Given the description of an element on the screen output the (x, y) to click on. 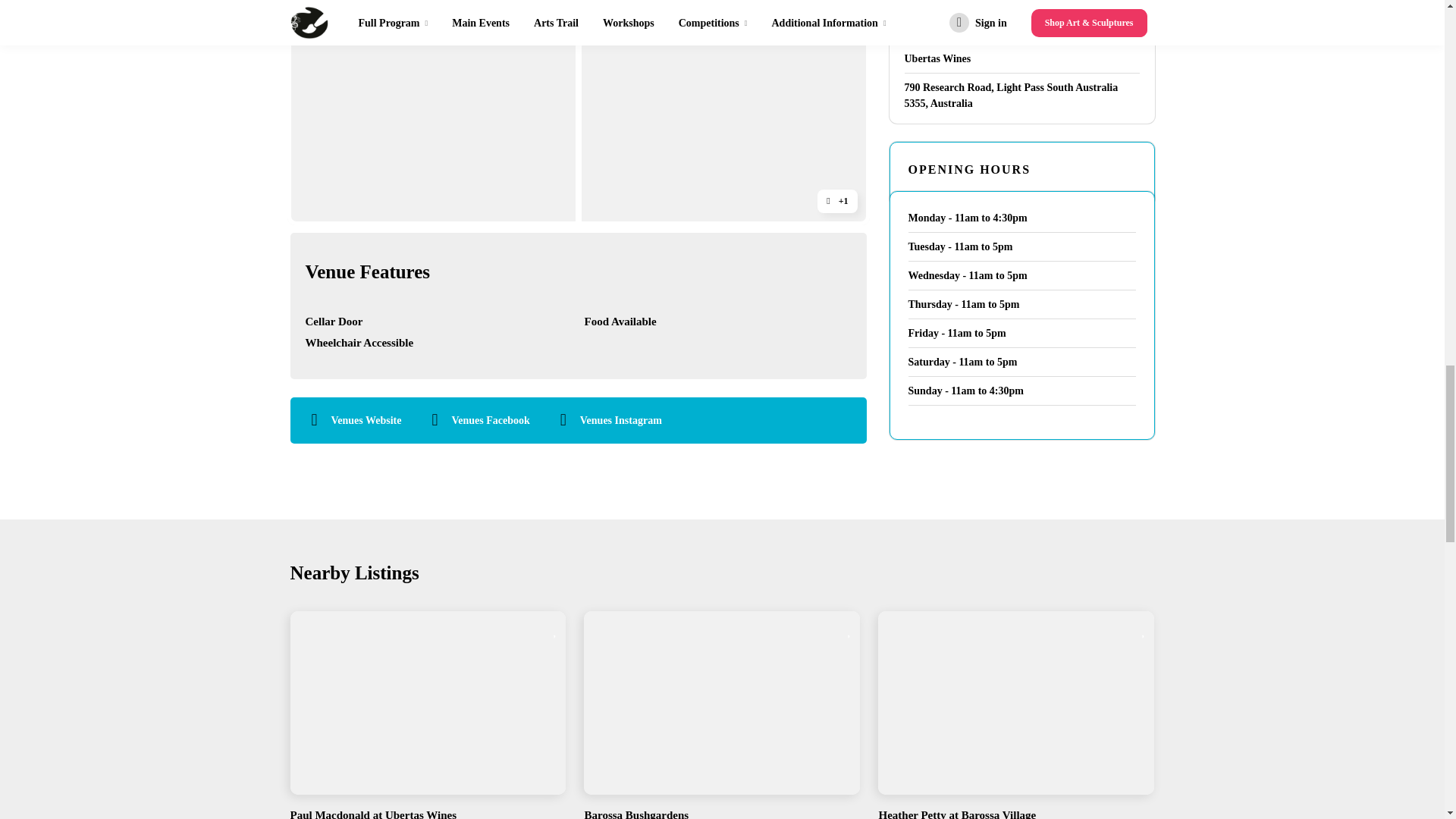
Venues Website (365, 420)
Venues Facebook (490, 420)
Venues Instagram (620, 420)
